Given the description of an element on the screen output the (x, y) to click on. 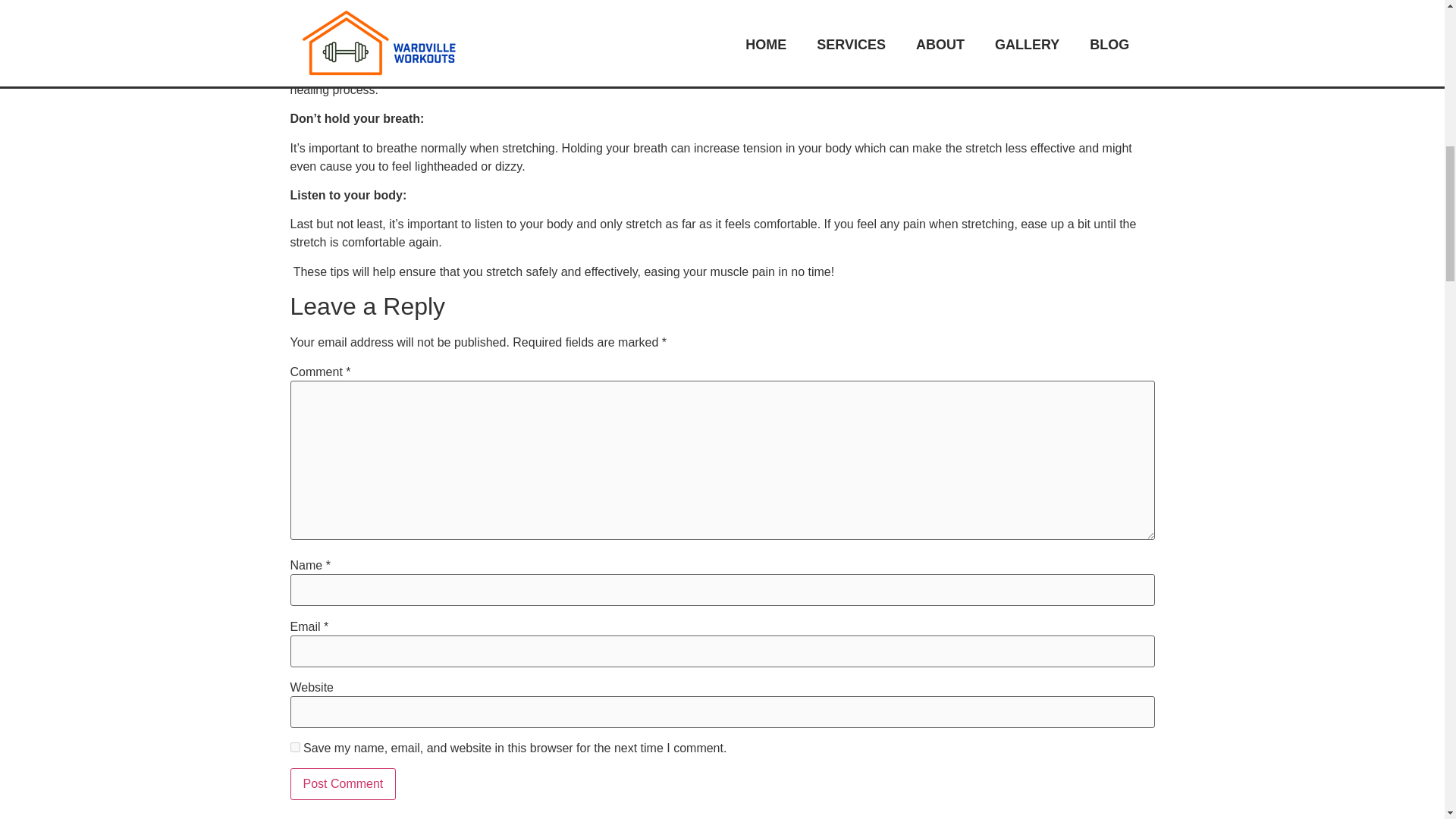
yes (294, 747)
Post Comment (342, 784)
Post Comment (342, 784)
